Given the description of an element on the screen output the (x, y) to click on. 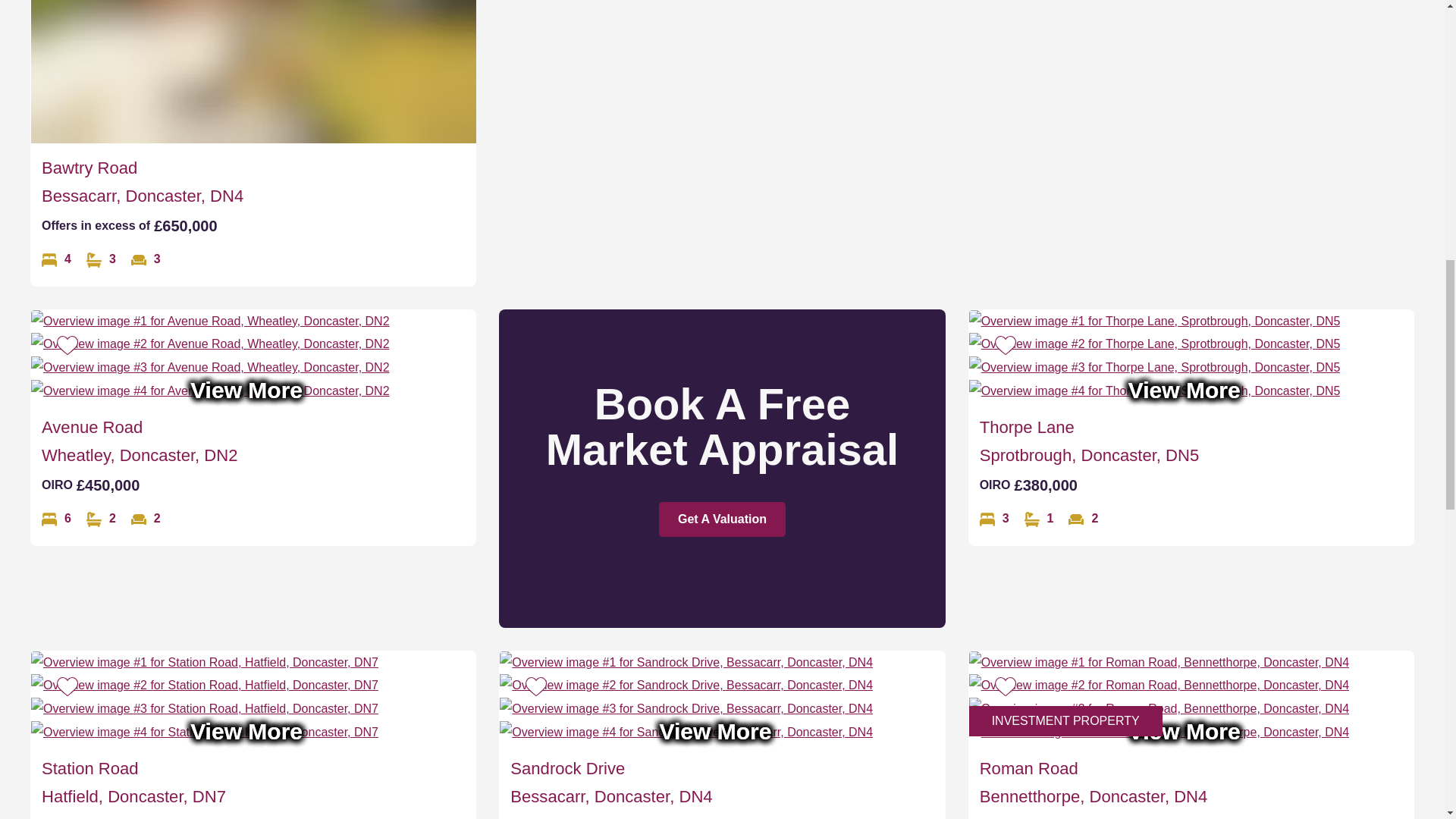
Bedrooms (56, 519)
Public Rooms (145, 519)
Public Rooms (145, 259)
Bedrooms (56, 259)
Bathrooms (100, 519)
Bedrooms (994, 519)
Bathrooms (1039, 519)
Bathrooms (100, 259)
Public Rooms (1082, 519)
